Given the description of an element on the screen output the (x, y) to click on. 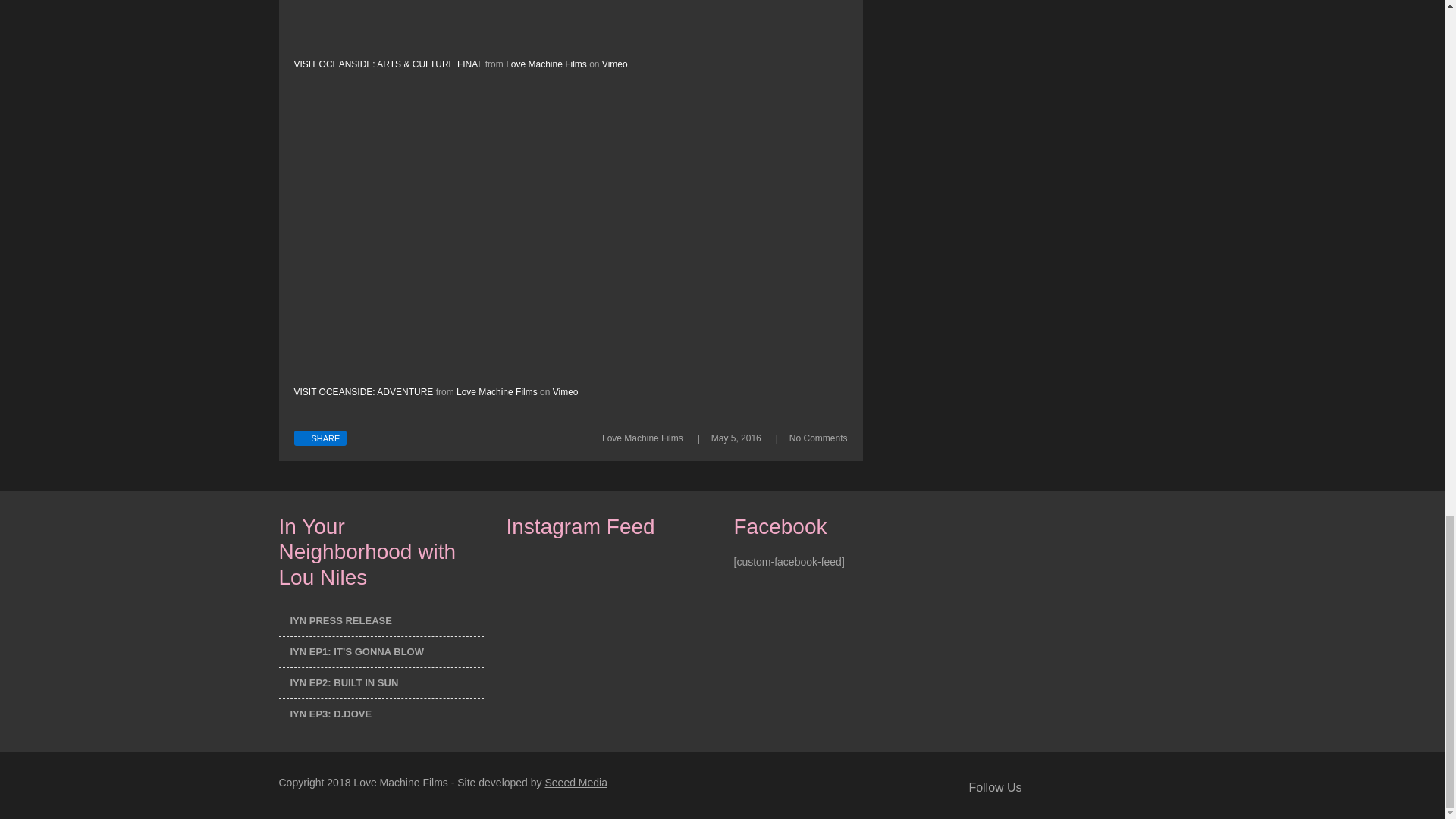
youtube (1133, 788)
twitter (1068, 788)
vimeo (1111, 788)
linkedin (1090, 788)
instagram (1153, 788)
facebook (1048, 788)
